Given the description of an element on the screen output the (x, y) to click on. 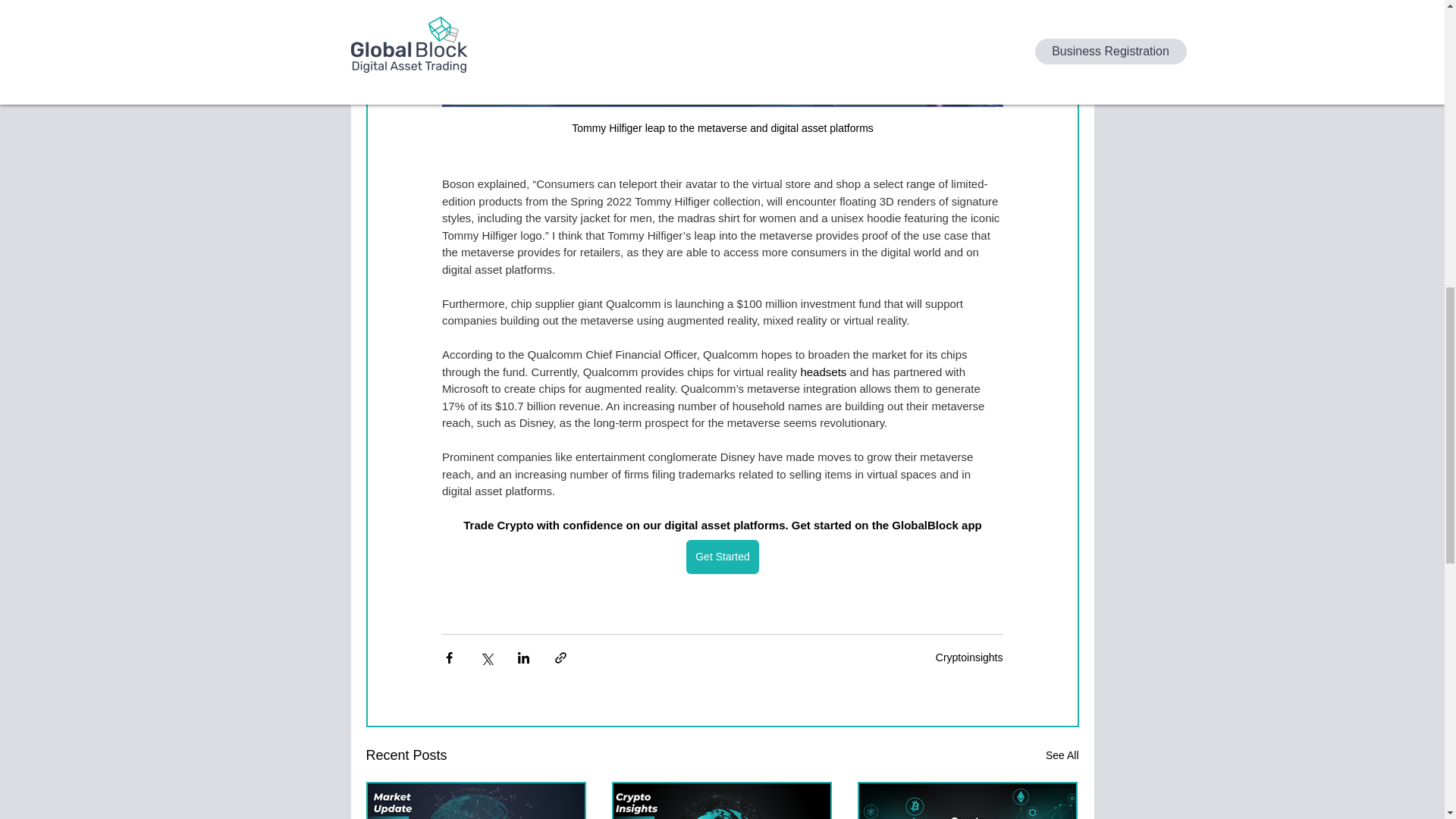
Get Started (721, 556)
Cryptoinsights (969, 657)
See All (1061, 755)
